Given the description of an element on the screen output the (x, y) to click on. 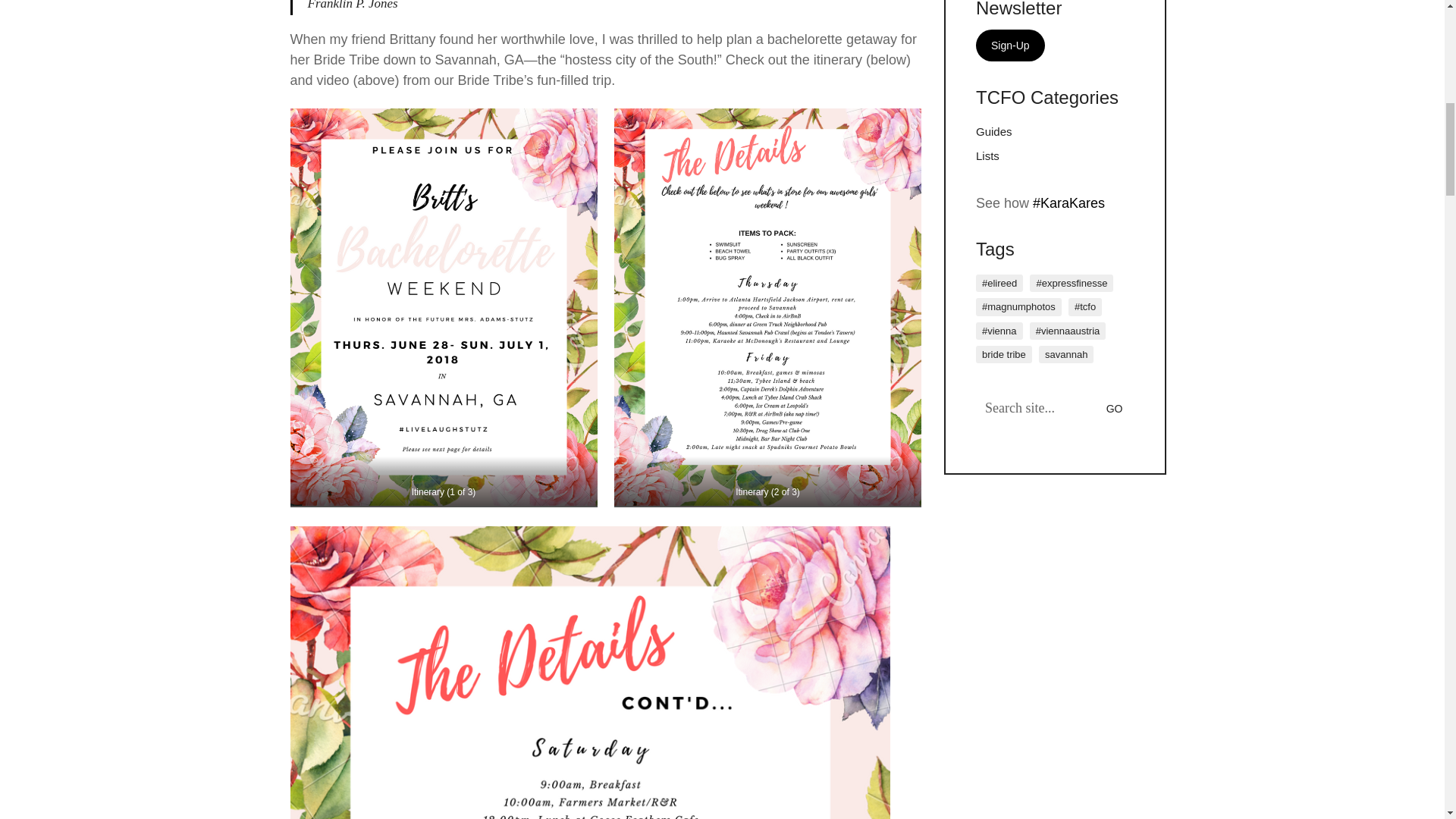
Search for: (1054, 408)
Go (1118, 408)
Go (1118, 408)
